Given the description of an element on the screen output the (x, y) to click on. 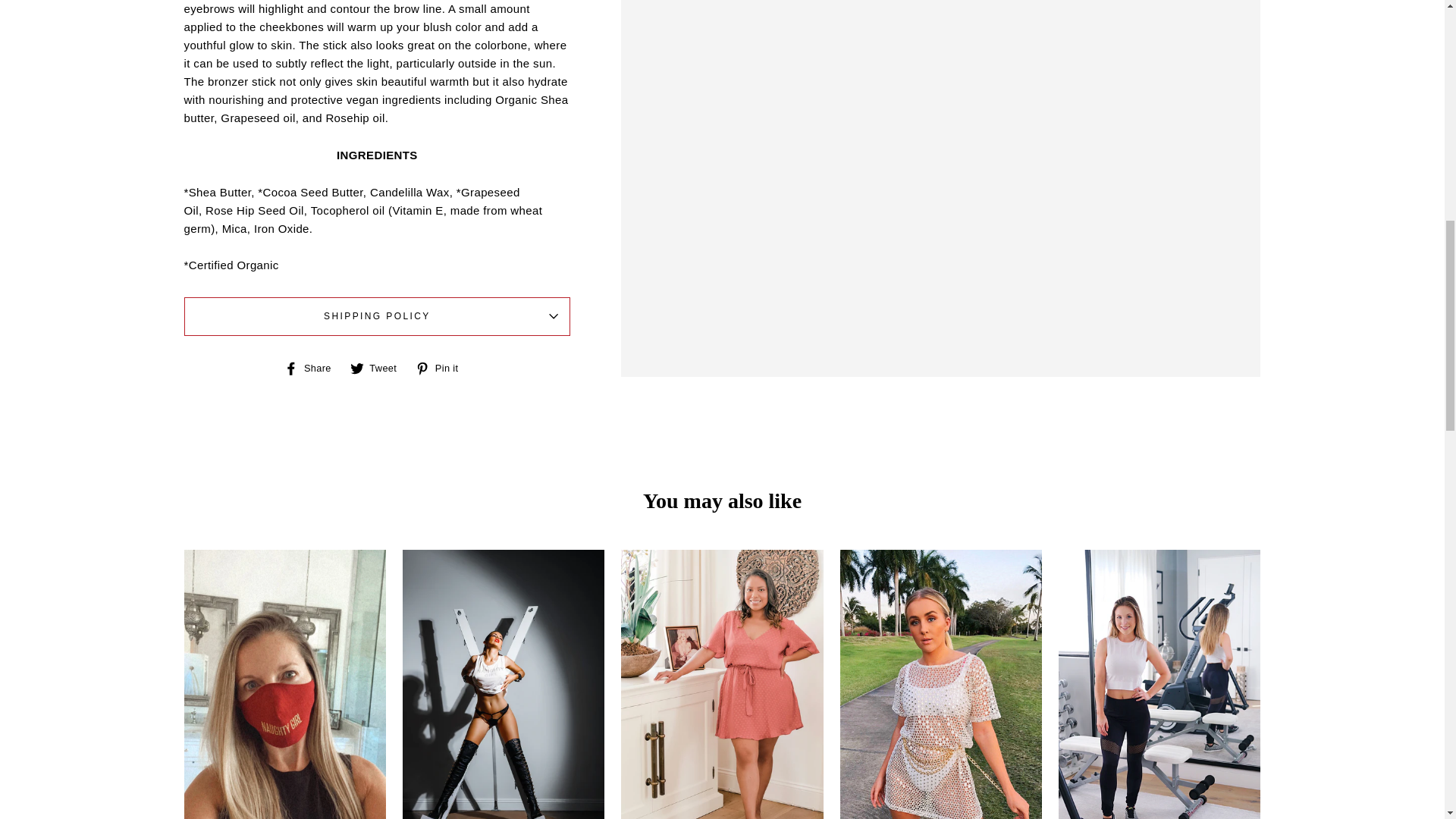
Tweet on Twitter (378, 367)
Pin on Pinterest (441, 367)
Share on Facebook (312, 367)
